Given the description of an element on the screen output the (x, y) to click on. 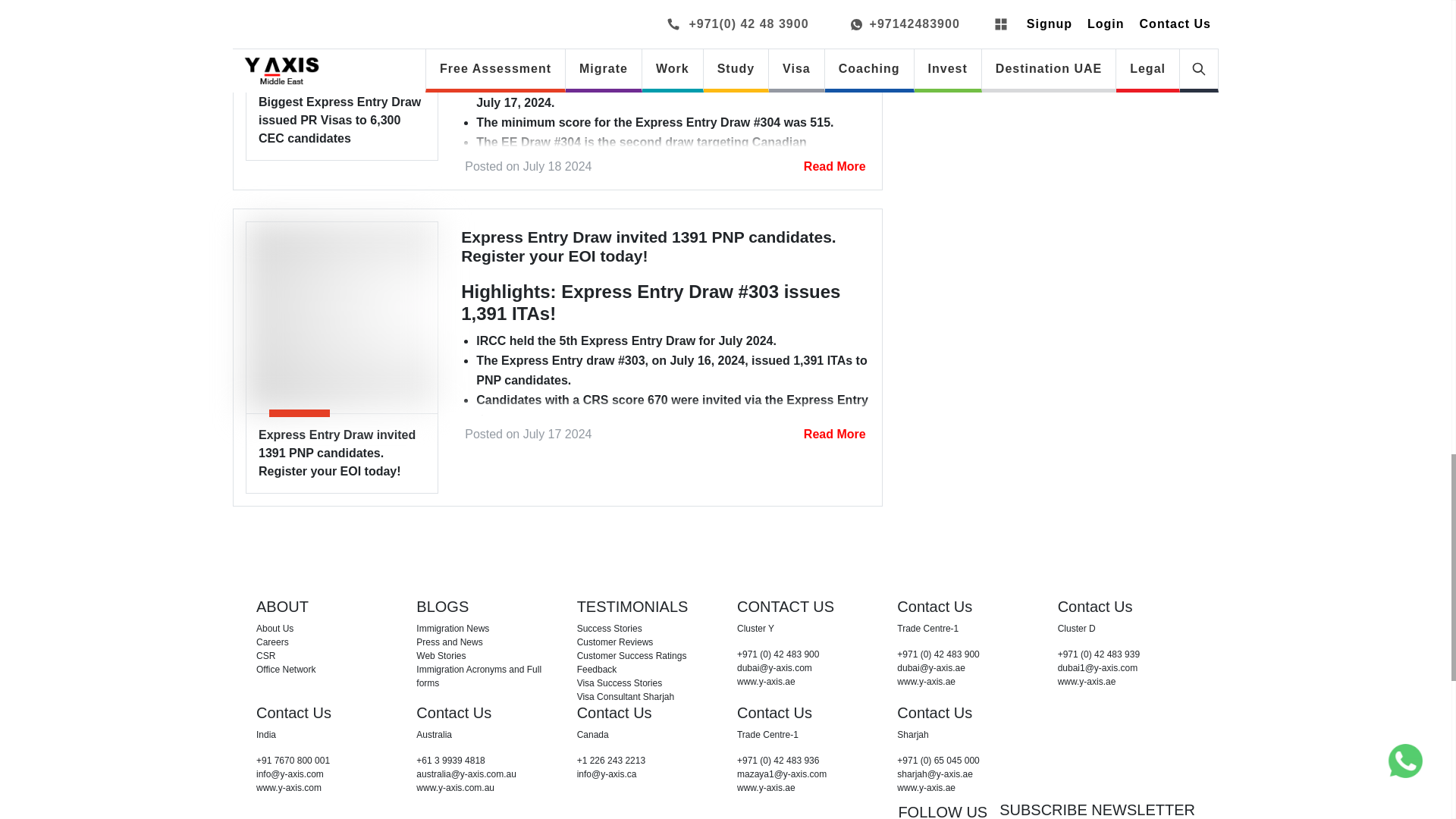
PR Visas (342, 40)
Express Entry Draw (342, 317)
